Given the description of an element on the screen output the (x, y) to click on. 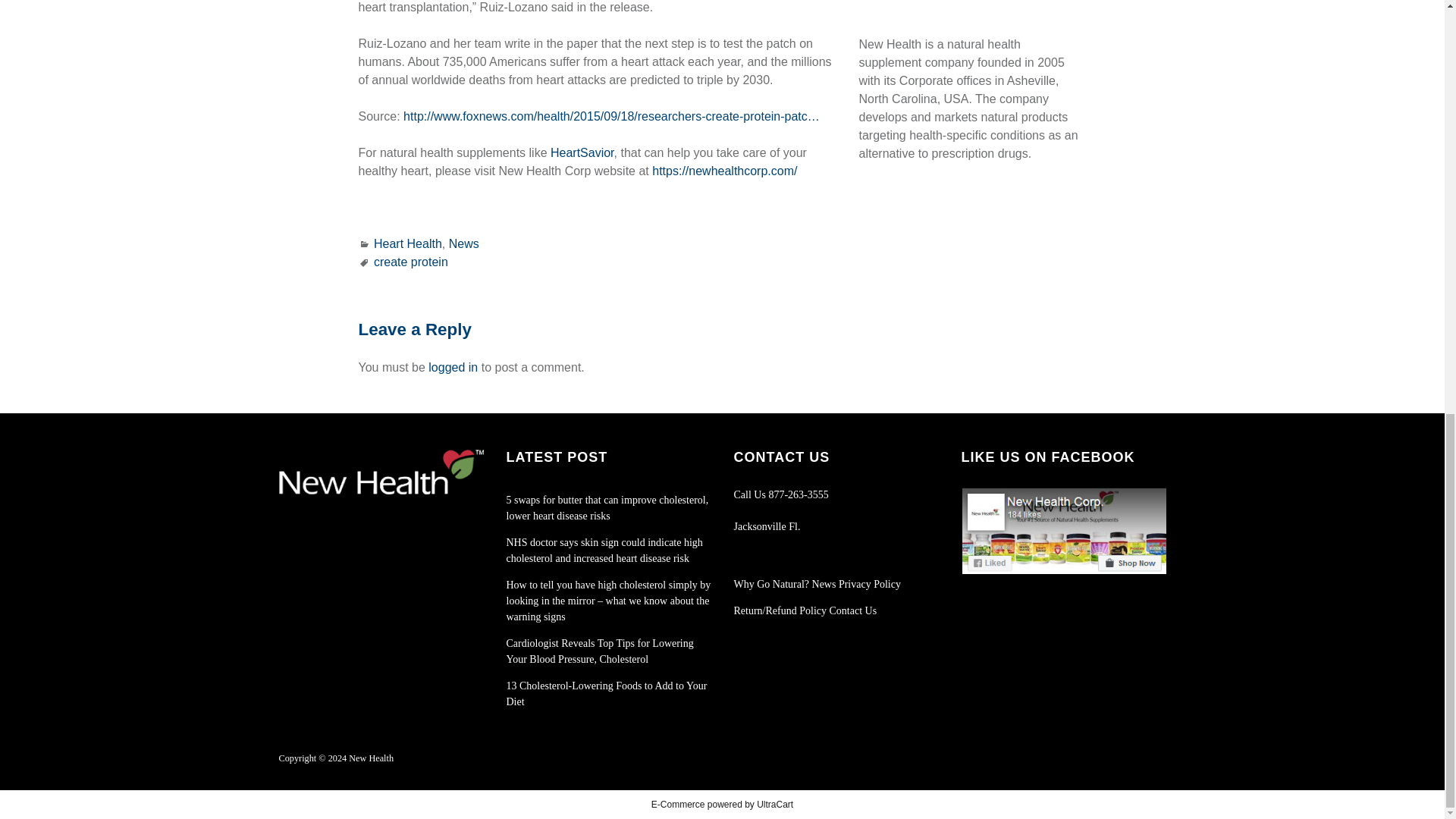
logged in (452, 367)
877-263-3555 (798, 494)
13 Cholesterol-Lowering Foods to Add to Your Diet (606, 693)
HeartSavior (582, 152)
create protein (411, 261)
Heart Health (408, 243)
News (463, 243)
